Given the description of an element on the screen output the (x, y) to click on. 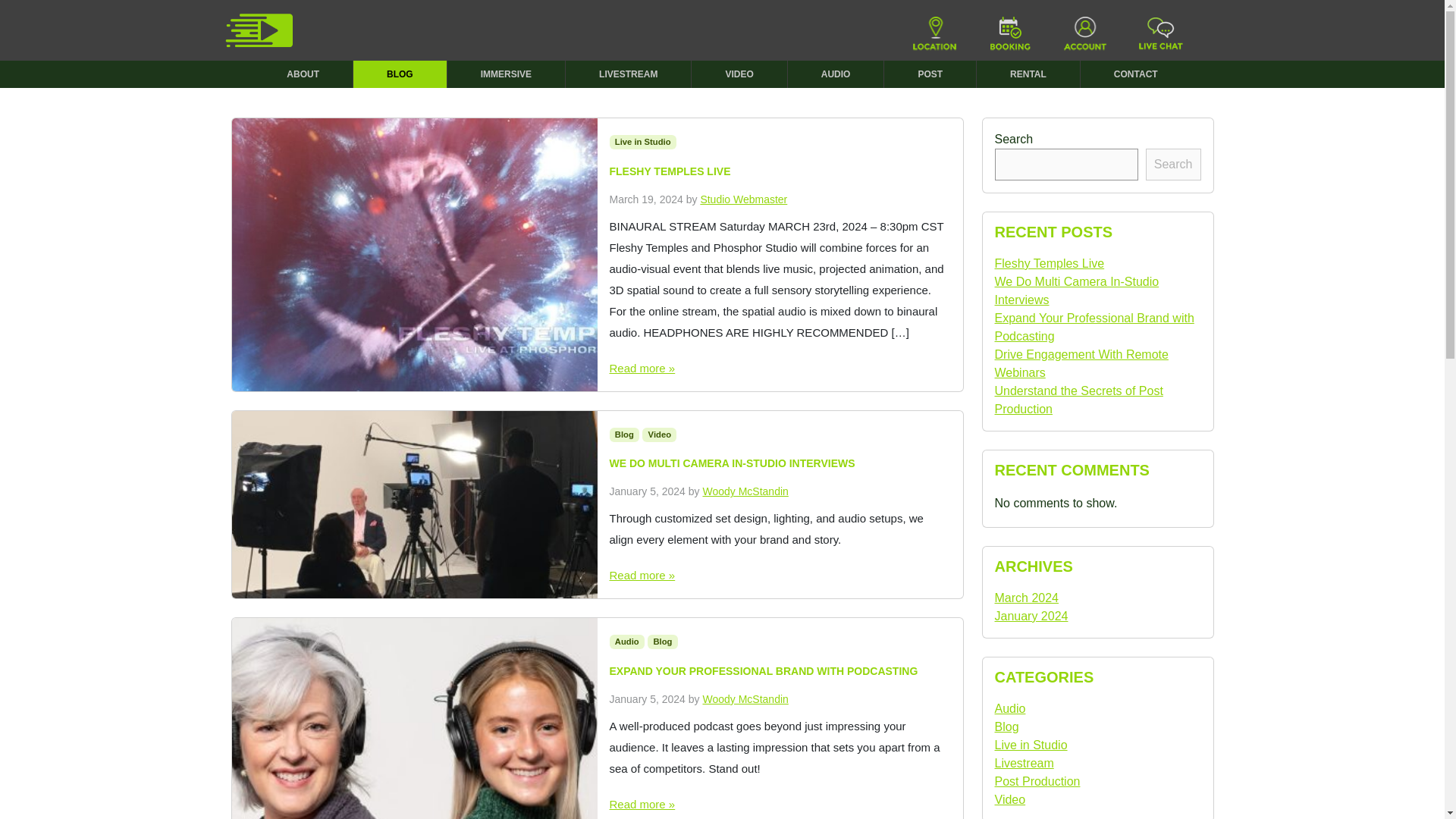
Blog (662, 641)
FLESHY TEMPLES LIVE (780, 174)
IMMERSIVE (506, 73)
Blog (625, 434)
AUDIO (836, 73)
Audio (627, 641)
CONTACT (1135, 73)
LIVESTREAM (628, 73)
Woody McStandin (744, 491)
ABOUT (303, 73)
Woody McStandin (744, 698)
VIDEO (739, 73)
POST (929, 73)
